Given the description of an element on the screen output the (x, y) to click on. 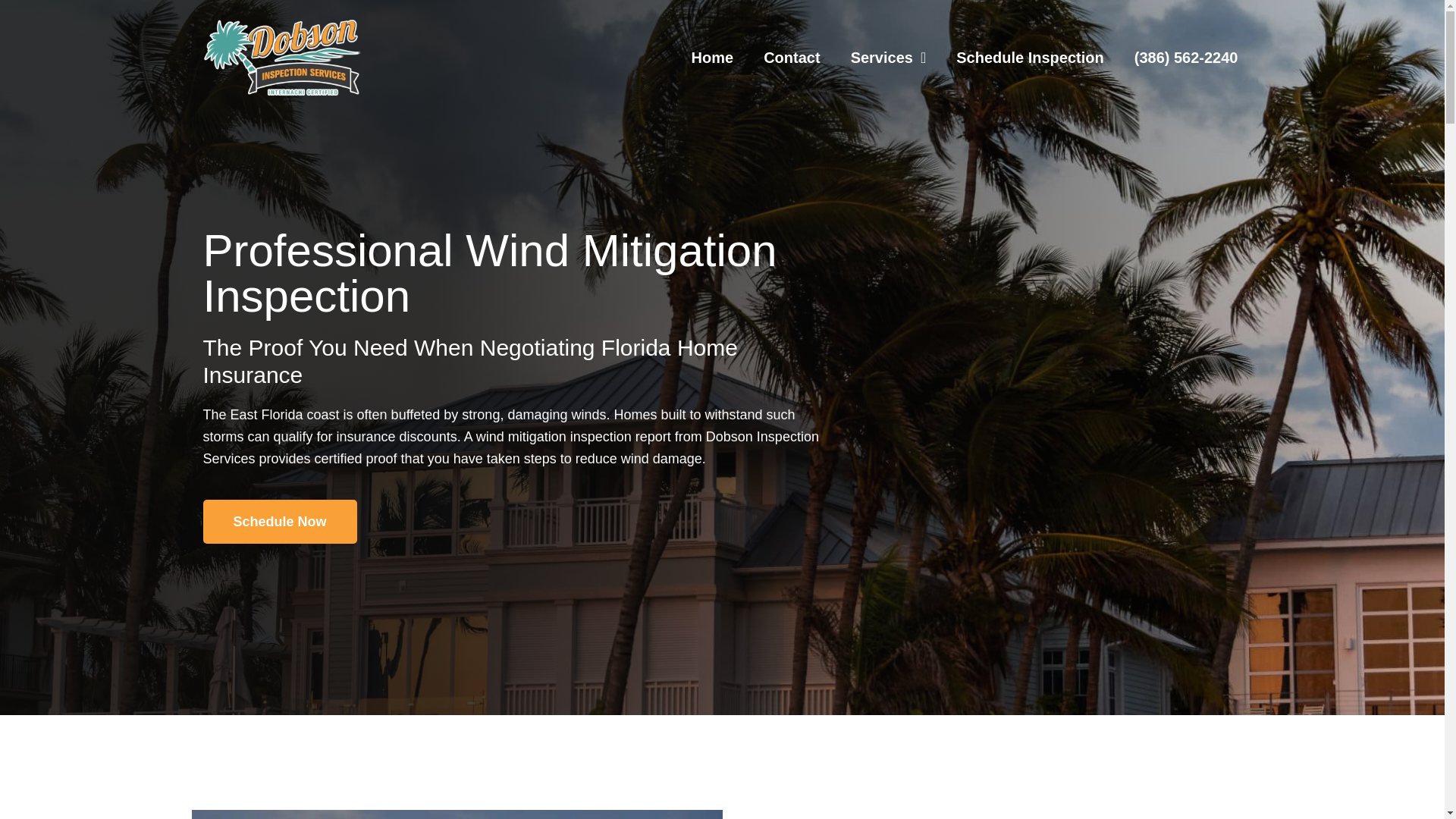
Contact (792, 57)
Schedule Inspection (1029, 57)
Services (888, 57)
Home (712, 57)
Schedule Now (279, 521)
